Given the description of an element on the screen output the (x, y) to click on. 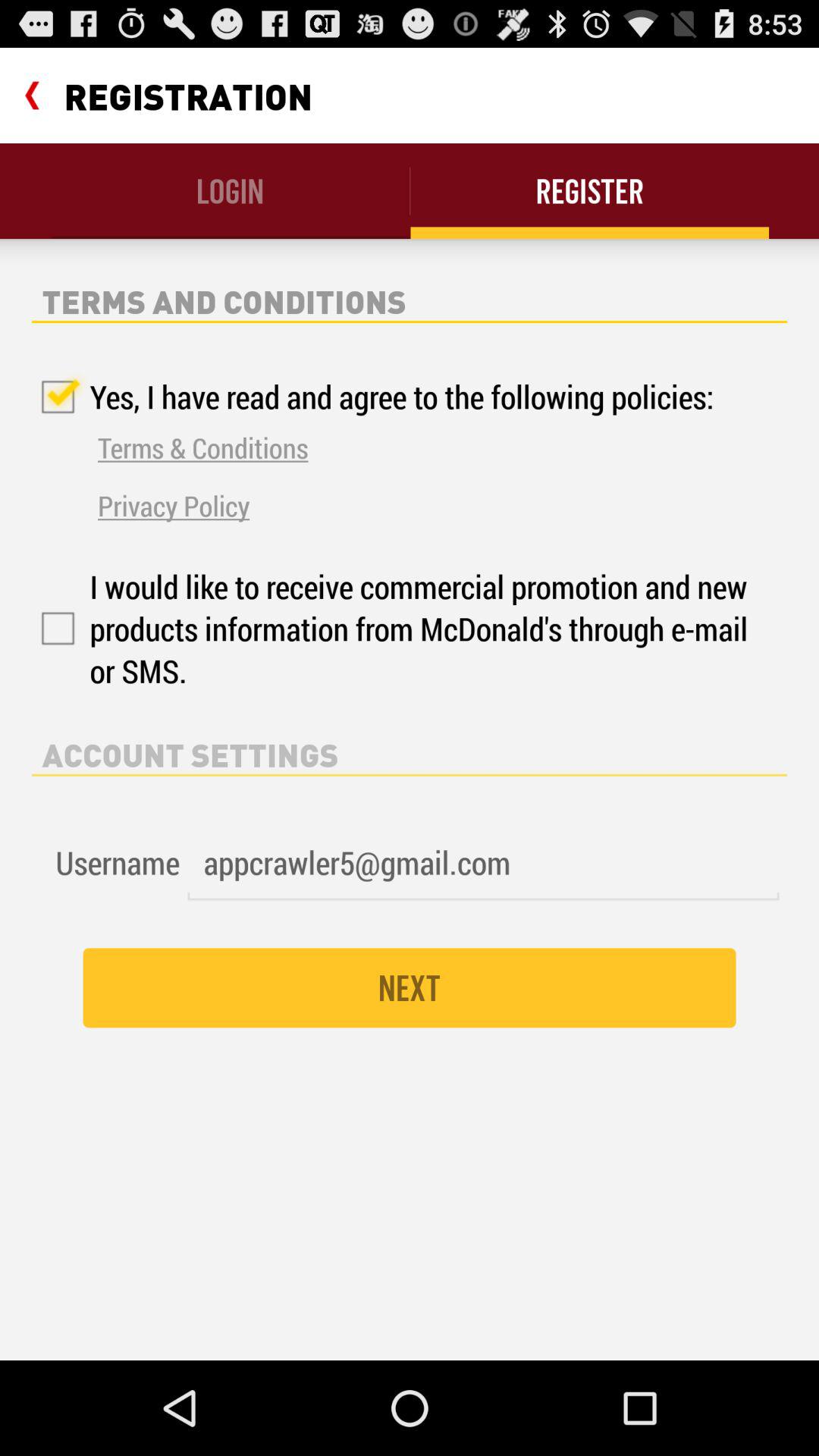
launch icon next to the username icon (483, 863)
